Given the description of an element on the screen output the (x, y) to click on. 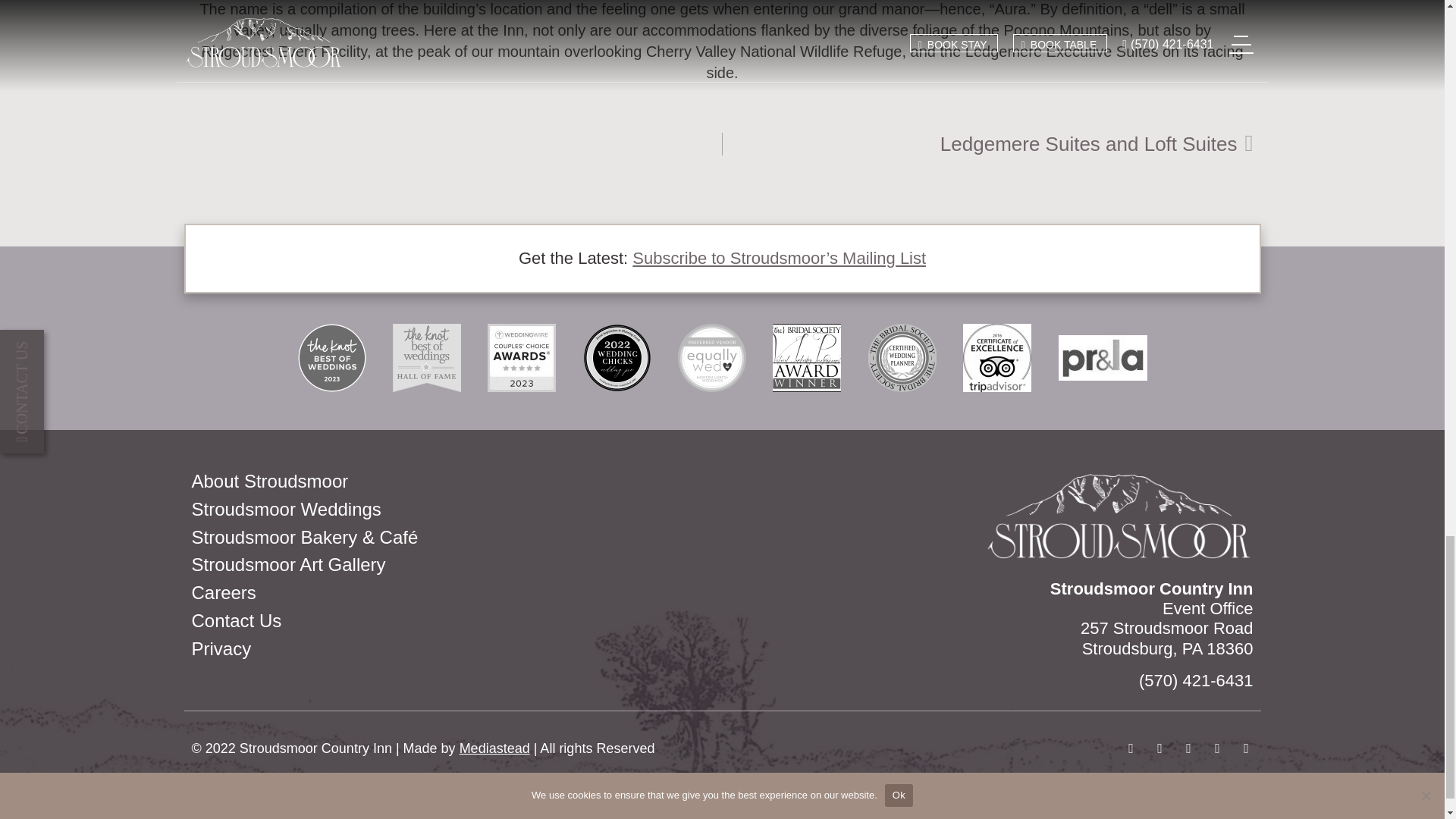
Career Opportunities at Stroudsmoor Country Inn (452, 593)
prla.jpg (1102, 357)
About Stroudsmoor (452, 481)
About Stroudsmoor Country Inn (452, 481)
Careers (452, 593)
Stroudsmoor Weddings (987, 143)
Youtube (452, 510)
bridal-society-award-badge.png (1216, 748)
Rss (807, 357)
2022-wedding-chicks-badge.png (1245, 748)
ww-couples-choice-2023-v2 (616, 357)
Facebook-f (521, 357)
Mediastead (1130, 748)
knot-bow-2023 (494, 748)
